Given the description of an element on the screen output the (x, y) to click on. 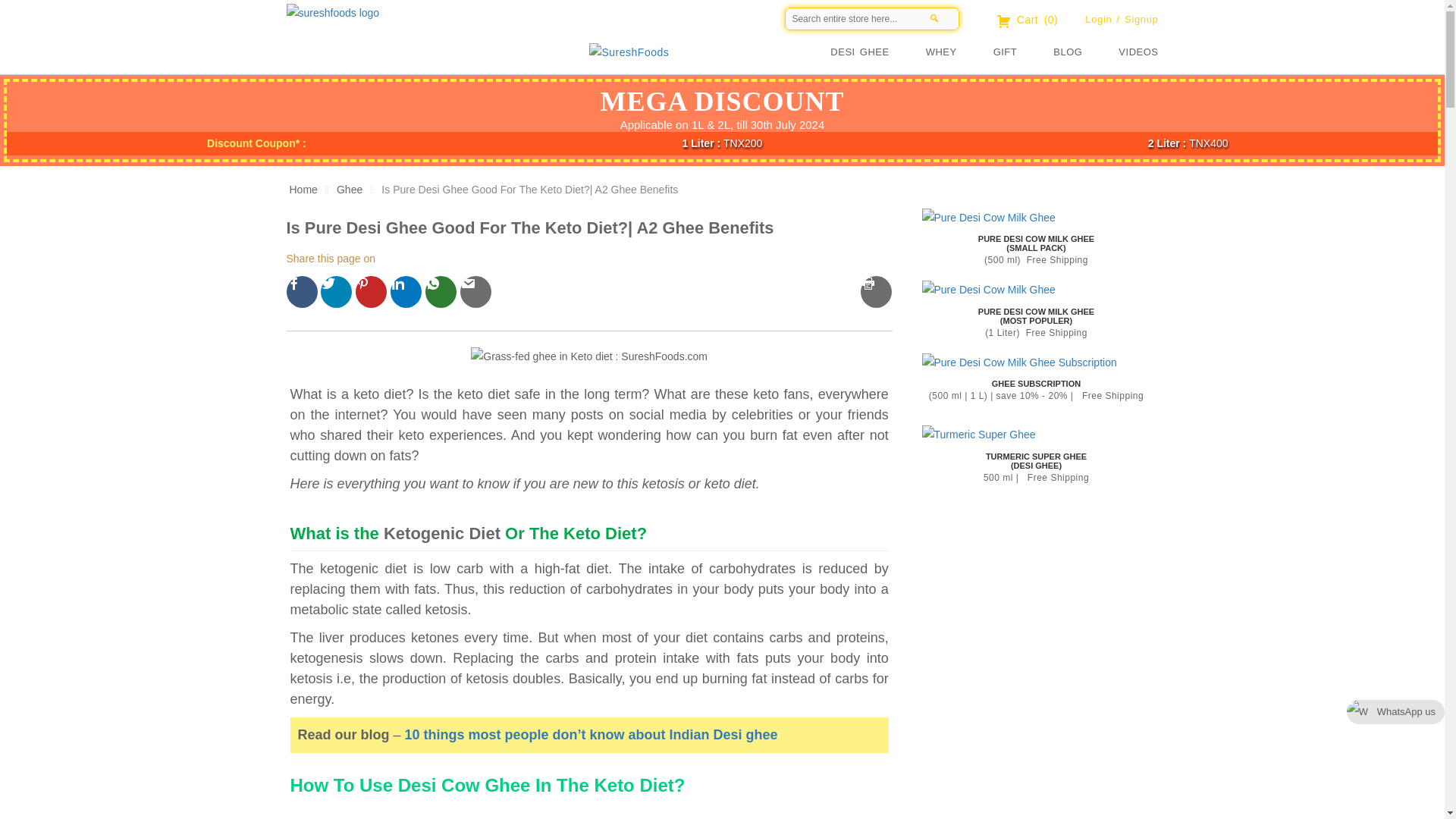
Turmeric Super Ghee (978, 434)
1 Liter : TNX200 (722, 143)
Home (624, 49)
Ketogenic Diet (442, 533)
Ghee (349, 189)
GIFT (1023, 51)
Pure Desi Cow Milk Ghee (988, 289)
Home (303, 189)
DESI GHEE (876, 51)
VIDEOS (1137, 51)
Pure Desi Cow Milk Ghee (988, 217)
2 Liter : TNX400 (1188, 143)
WHEY (959, 51)
Pure Desi Cow Milk Ghee Subscription (1018, 362)
